Given the description of an element on the screen output the (x, y) to click on. 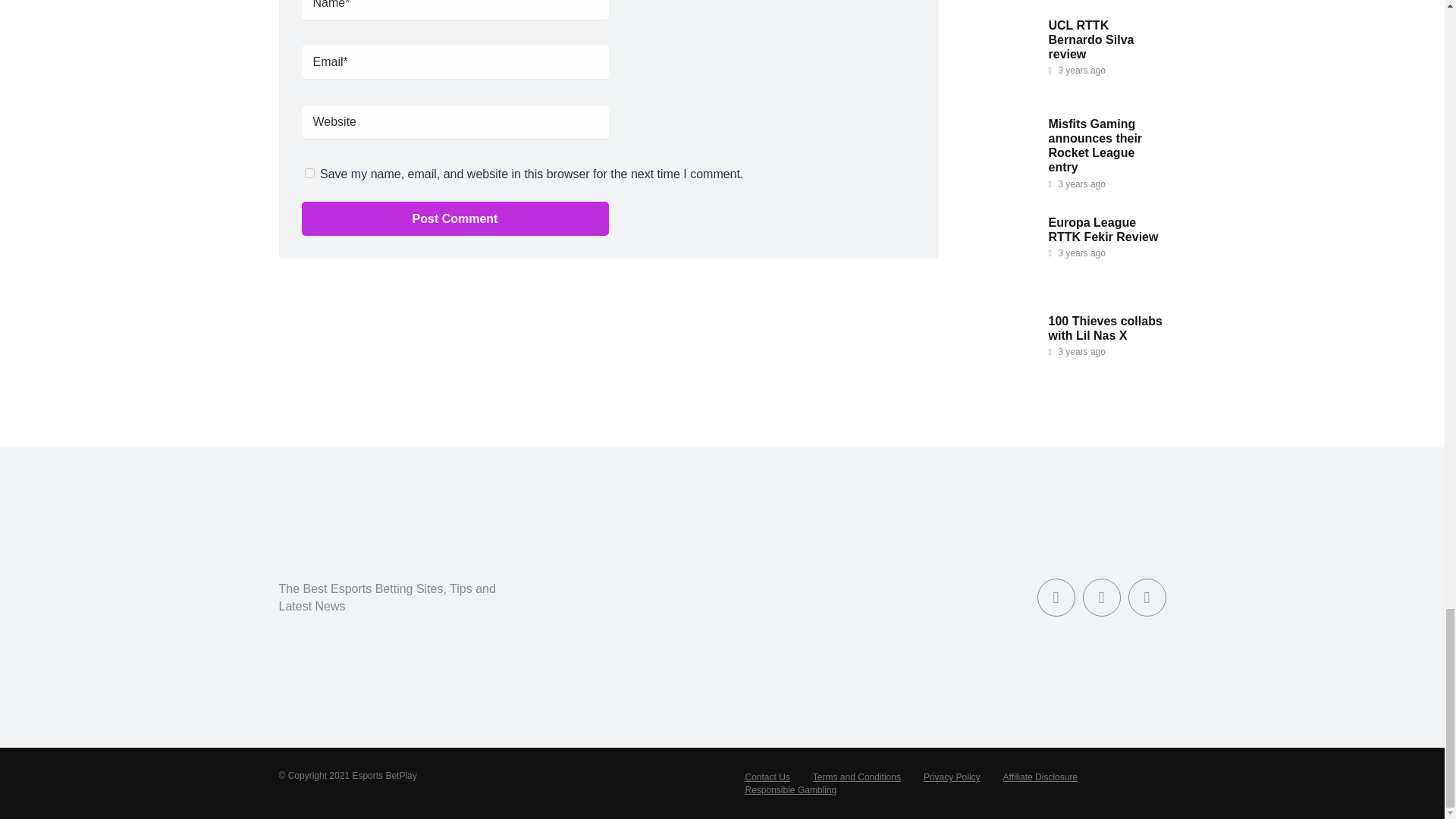
Post Comment (454, 218)
Post Comment (454, 218)
yes (309, 173)
